Given the description of an element on the screen output the (x, y) to click on. 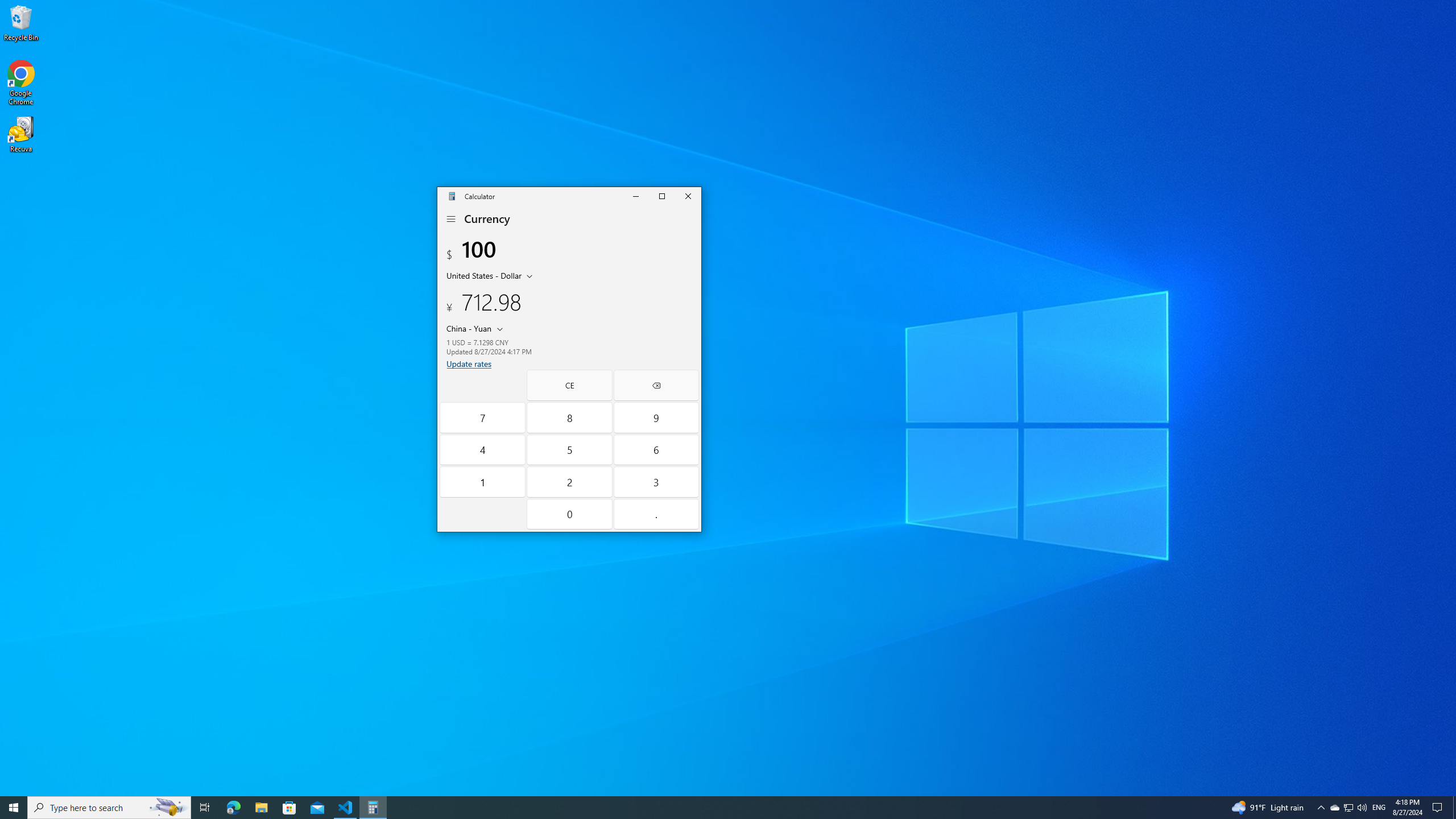
Q2790: 100% (1361, 807)
Tray Input Indicator - English (United States) (1378, 807)
Three (655, 481)
Seven (482, 417)
China Yuan (468, 328)
Eight (569, 417)
Four (482, 449)
Microsoft Store (1347, 807)
Output unit (289, 807)
User Promoted Notification Area (476, 328)
Task View (1347, 807)
Update rates (204, 807)
Nine (469, 363)
